Given the description of an element on the screen output the (x, y) to click on. 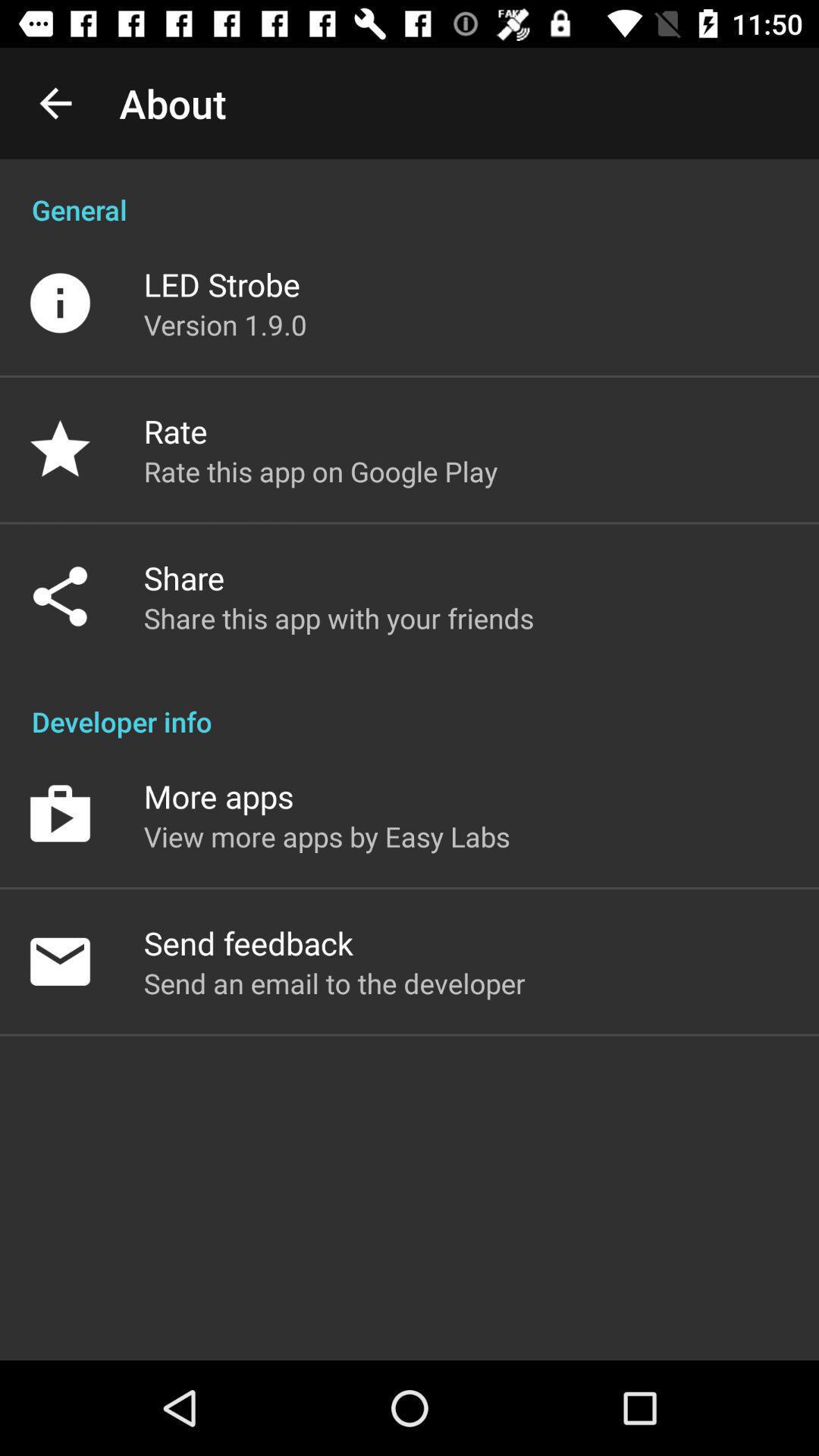
turn on icon below the view more apps item (248, 942)
